Given the description of an element on the screen output the (x, y) to click on. 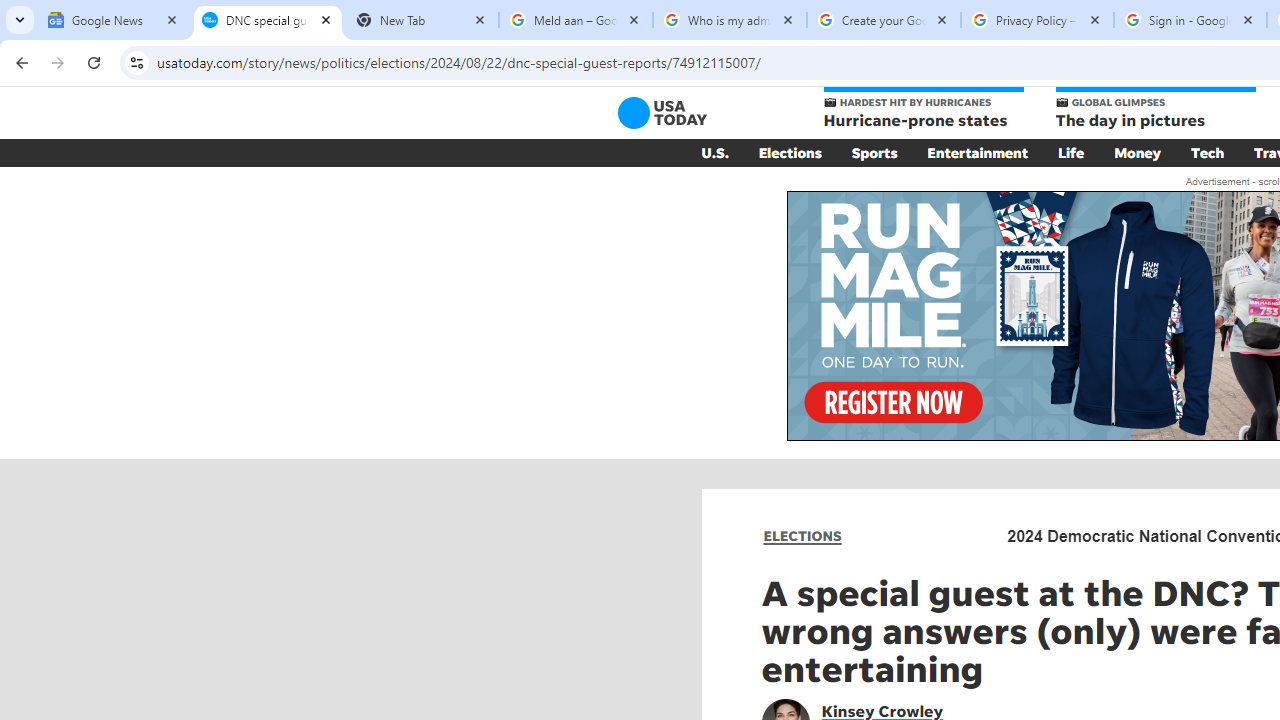
New Tab (421, 20)
Life (1071, 152)
Google News (113, 20)
System (10, 11)
System (10, 11)
Money (1137, 152)
Close (1247, 19)
USA TODAY (661, 112)
Search tabs (20, 20)
Back (19, 62)
